Given the description of an element on the screen output the (x, y) to click on. 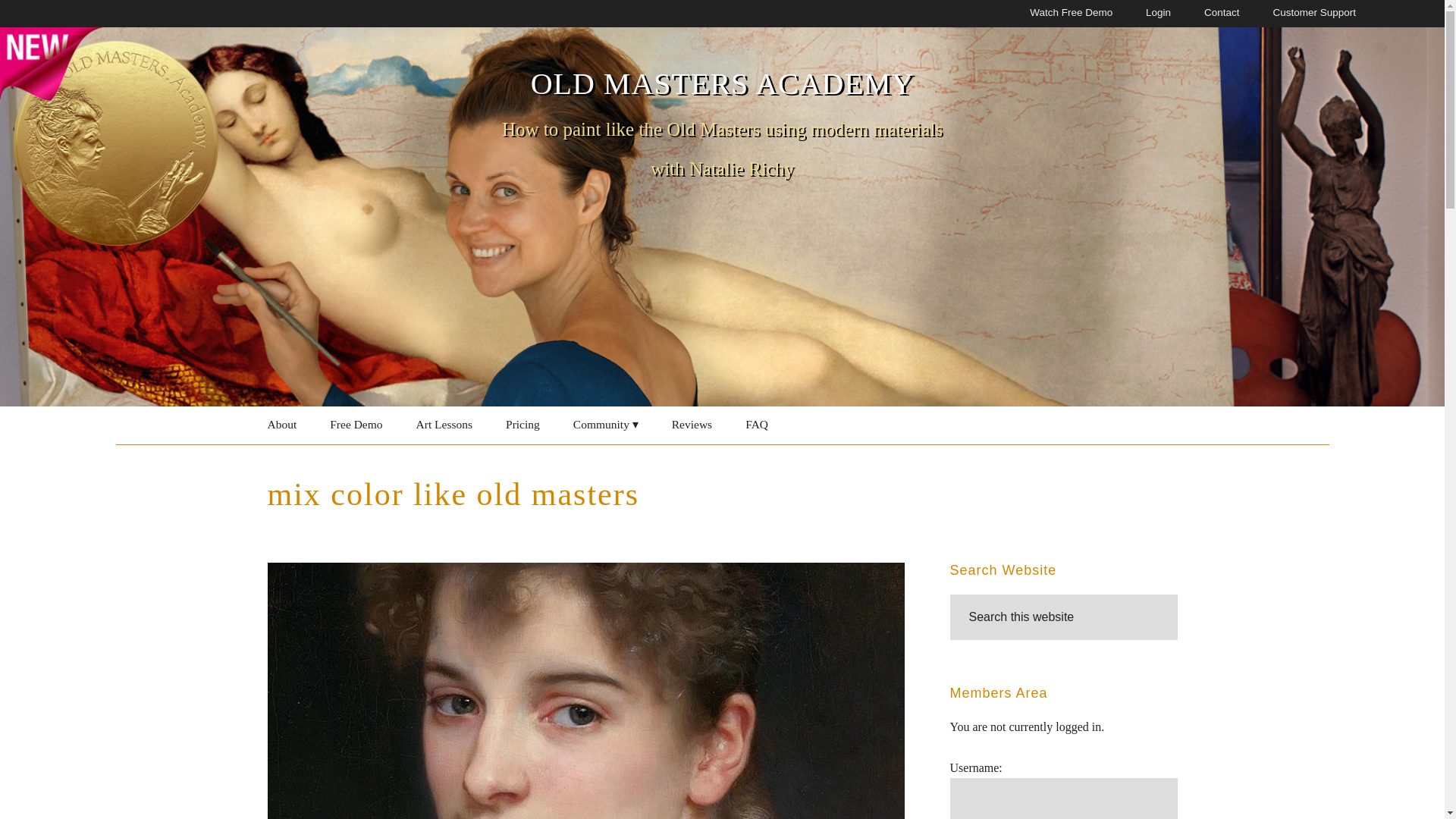
Customer Support (1313, 13)
Art Lessons (443, 425)
Free Demo (355, 425)
Login (1157, 13)
OLD MASTERS ACADEMY (722, 83)
Contact (1222, 13)
Watch Free Demo (1070, 13)
Reviews (691, 425)
